Given the description of an element on the screen output the (x, y) to click on. 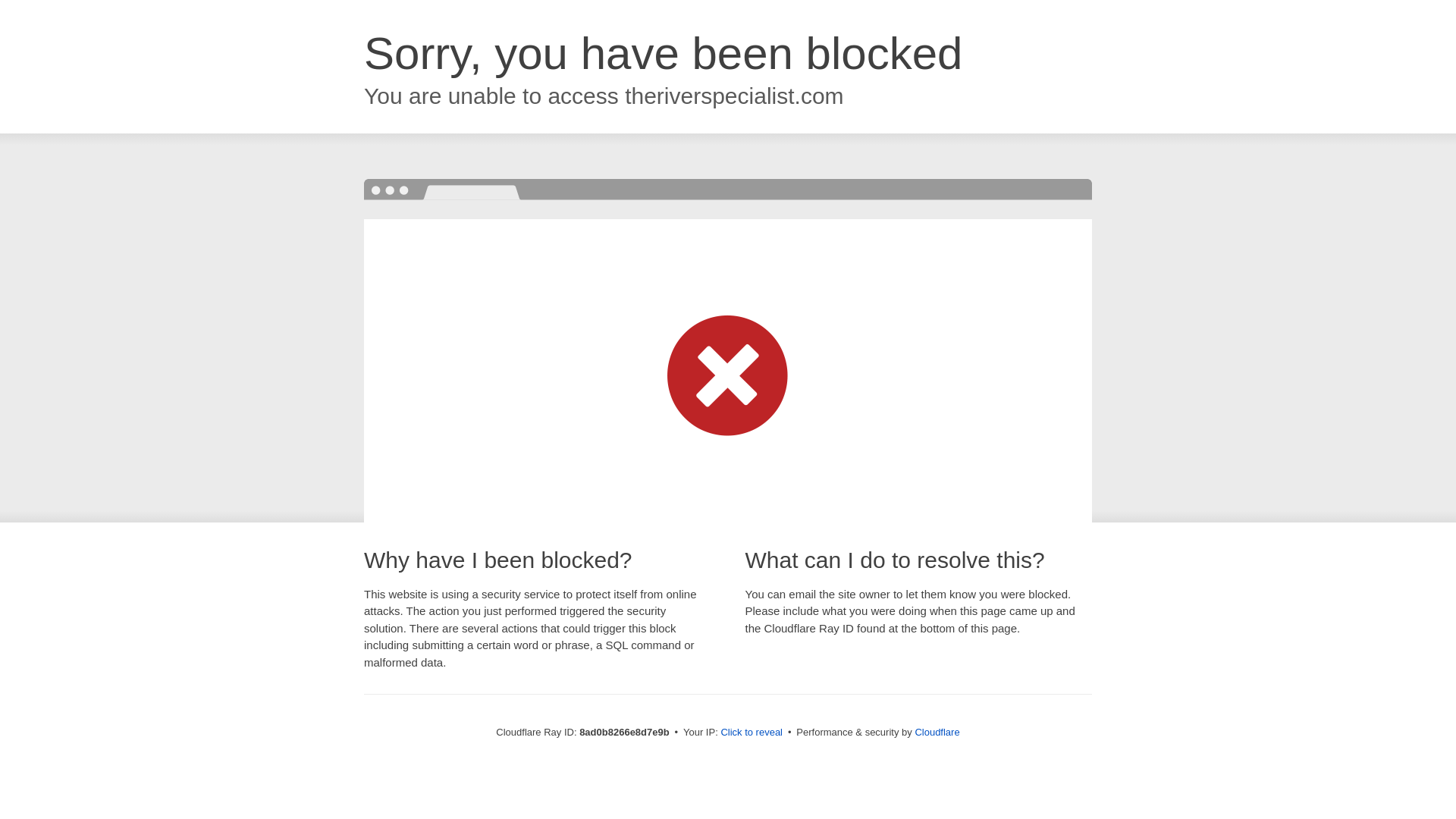
Cloudflare (936, 731)
Click to reveal (751, 732)
